Given the description of an element on the screen output the (x, y) to click on. 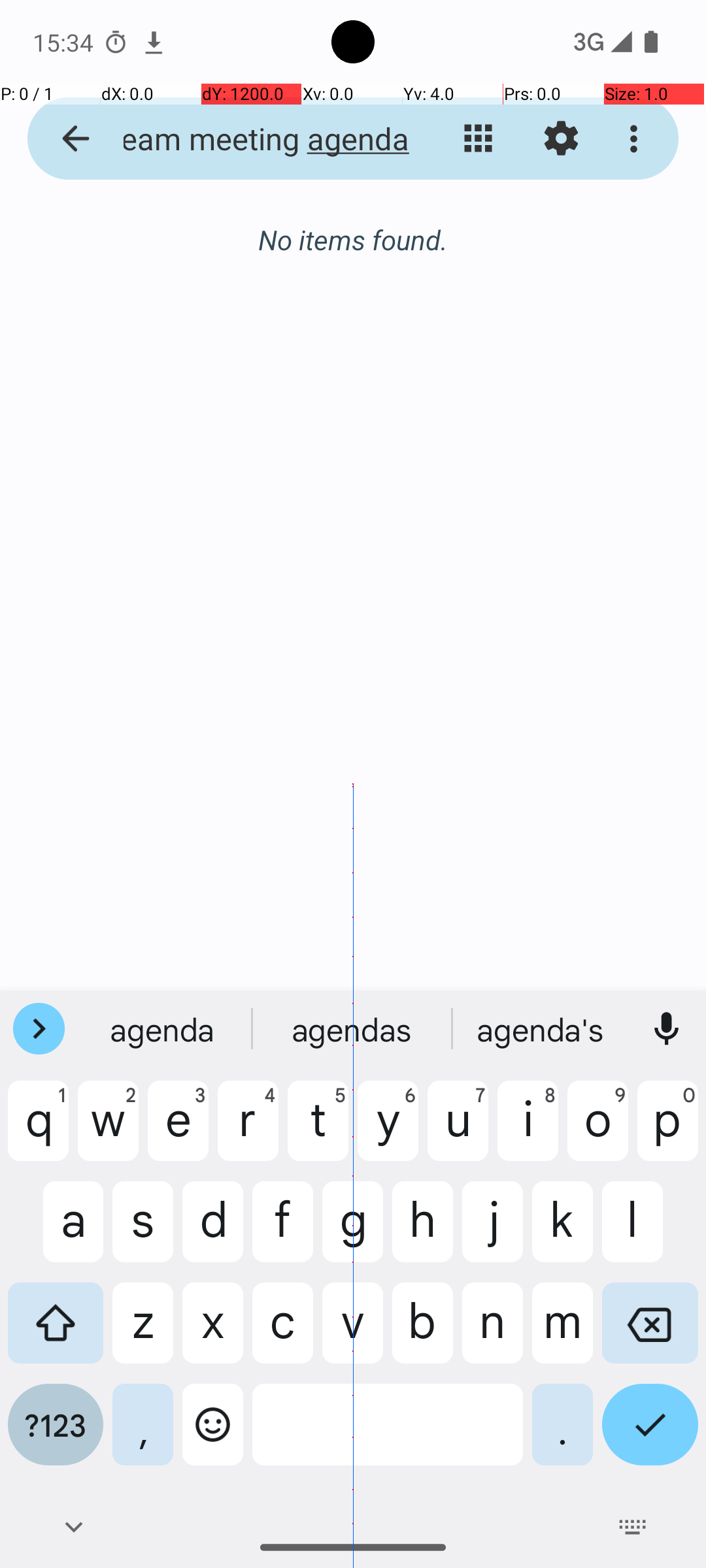
Team meeting agenda Element type: android.widget.EditText (252, 138)
11:00 - 11:15 Element type: android.widget.TextView (137, 389)
We will discuss software updates. Looking forward to productive discussions. Element type: android.widget.TextView (373, 424)
agenda Element type: android.widget.FrameLayout (163, 1028)
agendas Element type: android.widget.FrameLayout (541, 1028)
